Given the description of an element on the screen output the (x, y) to click on. 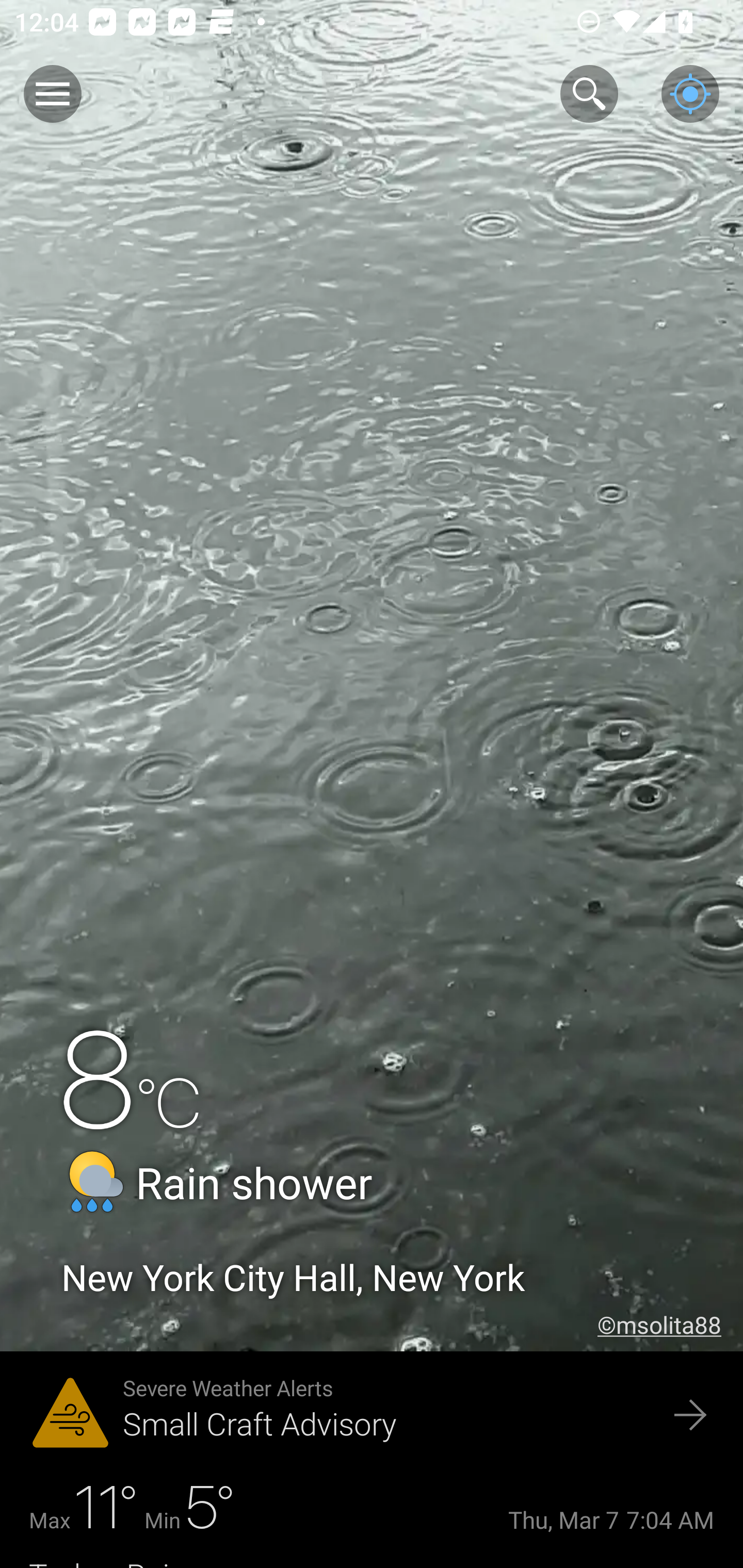
©msolita88 (670, 1324)
Severe Weather Alerts Small Craft Advisory  (371, 1416)
